Given the description of an element on the screen output the (x, y) to click on. 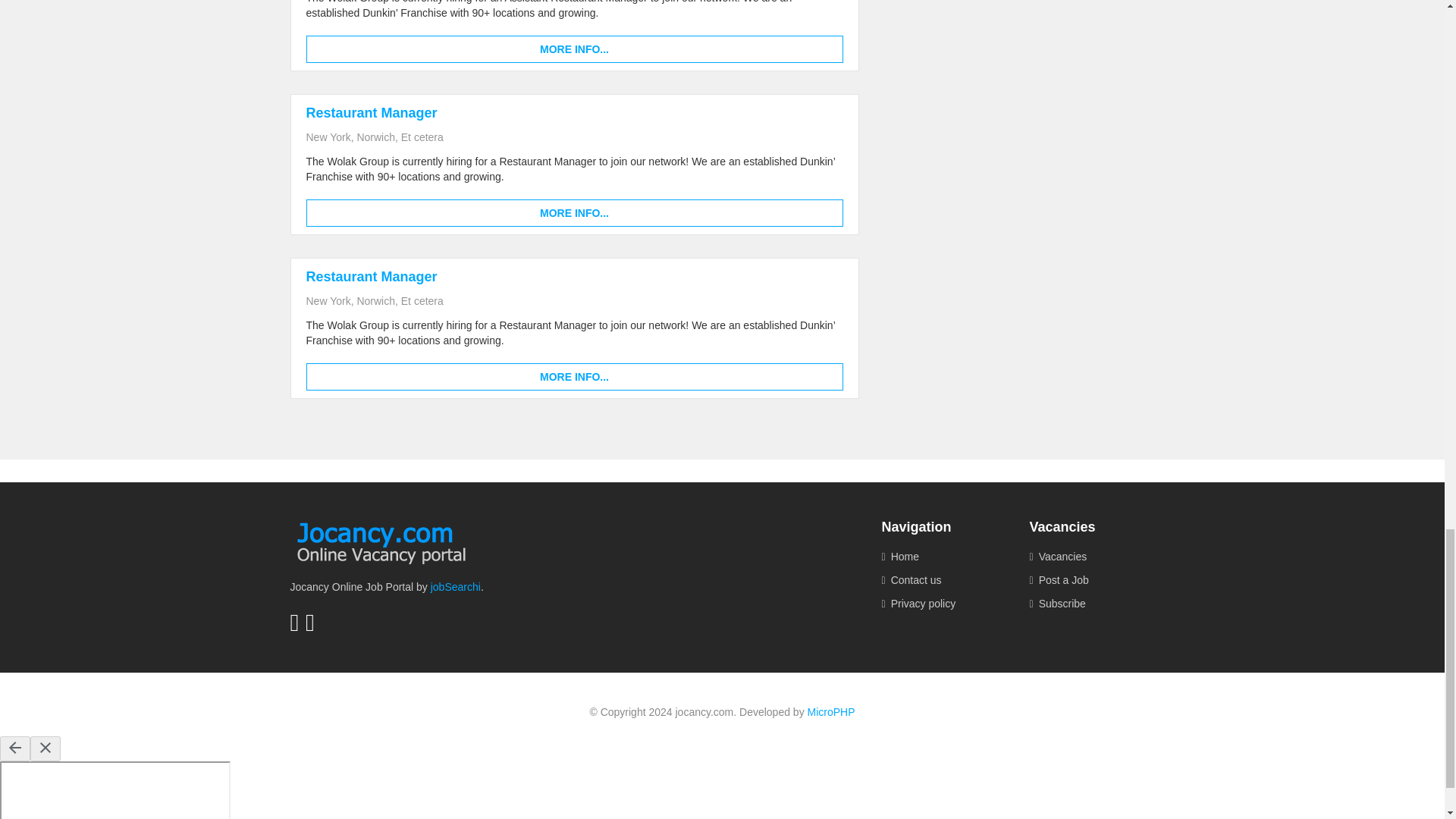
New York (327, 300)
Restaurant Manager (371, 276)
Restaurant Manager (371, 112)
Et cetera (422, 300)
MORE INFO... (574, 49)
MORE INFO... (574, 212)
Et cetera (422, 137)
MORE INFO... (574, 376)
jobSearchi (455, 586)
New York (327, 137)
